Given the description of an element on the screen output the (x, y) to click on. 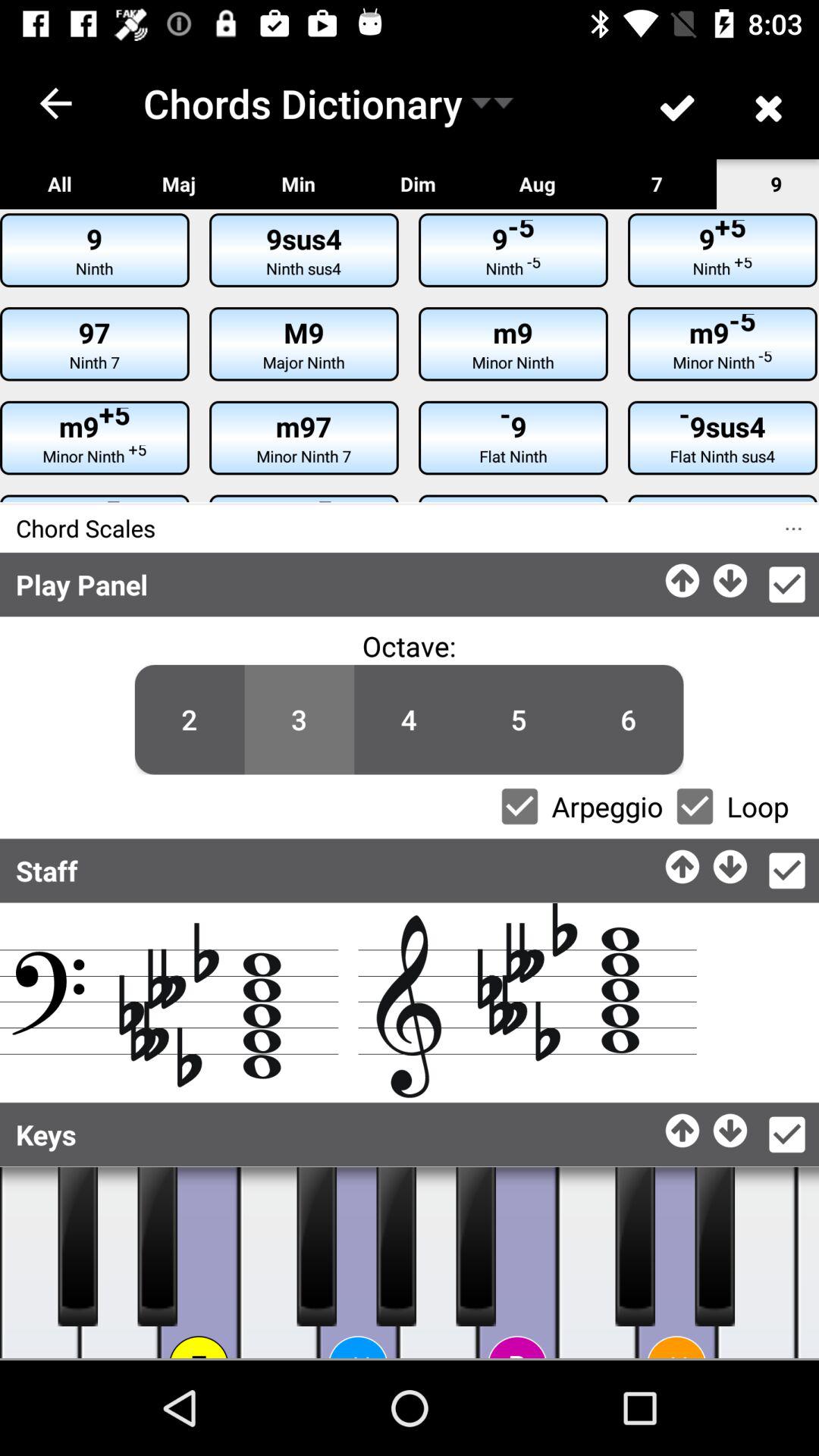
piano white key (756, 1262)
